Given the description of an element on the screen output the (x, y) to click on. 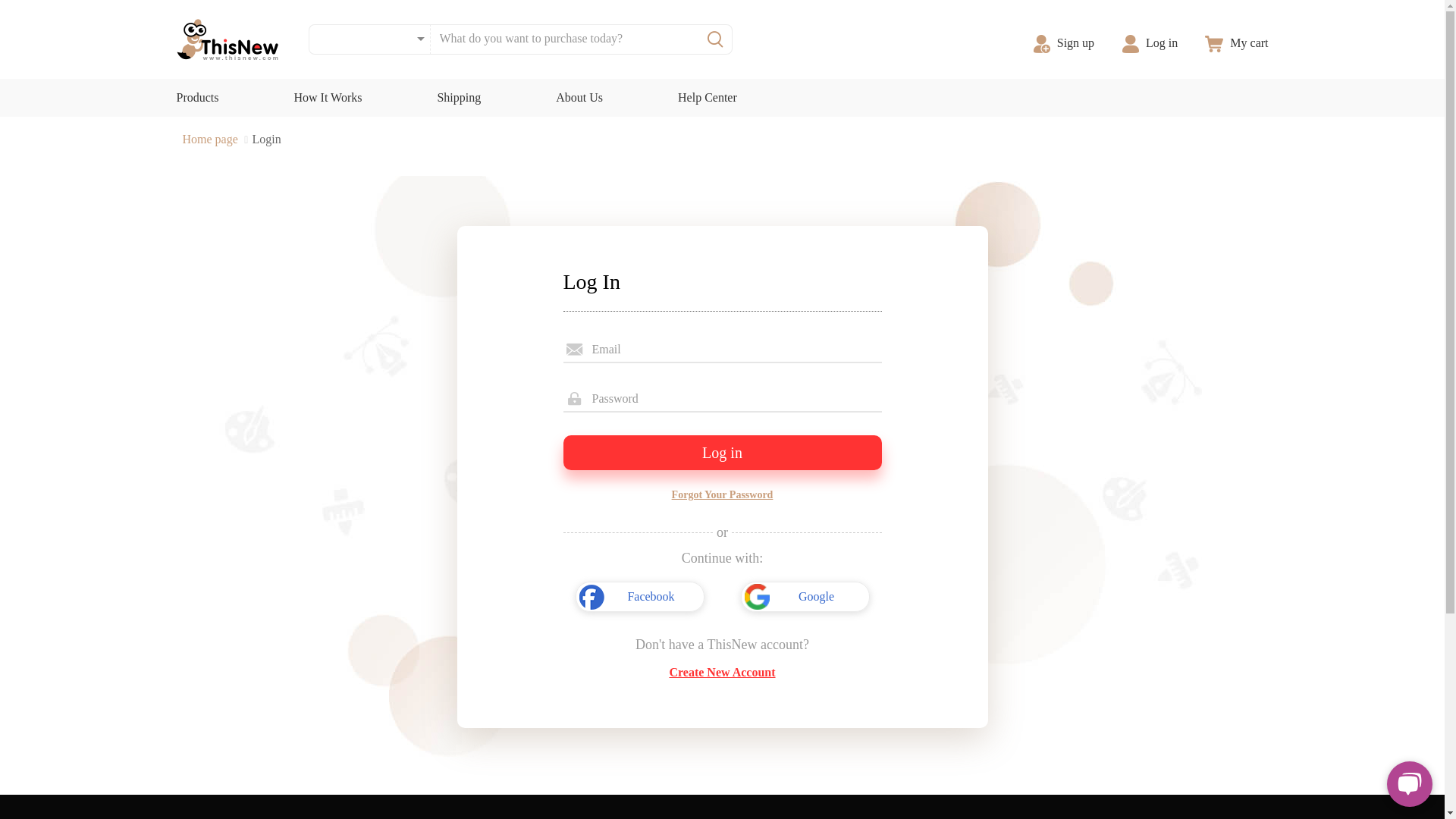
Log in (1150, 43)
Sign up (1064, 43)
Products (197, 97)
